Given the description of an element on the screen output the (x, y) to click on. 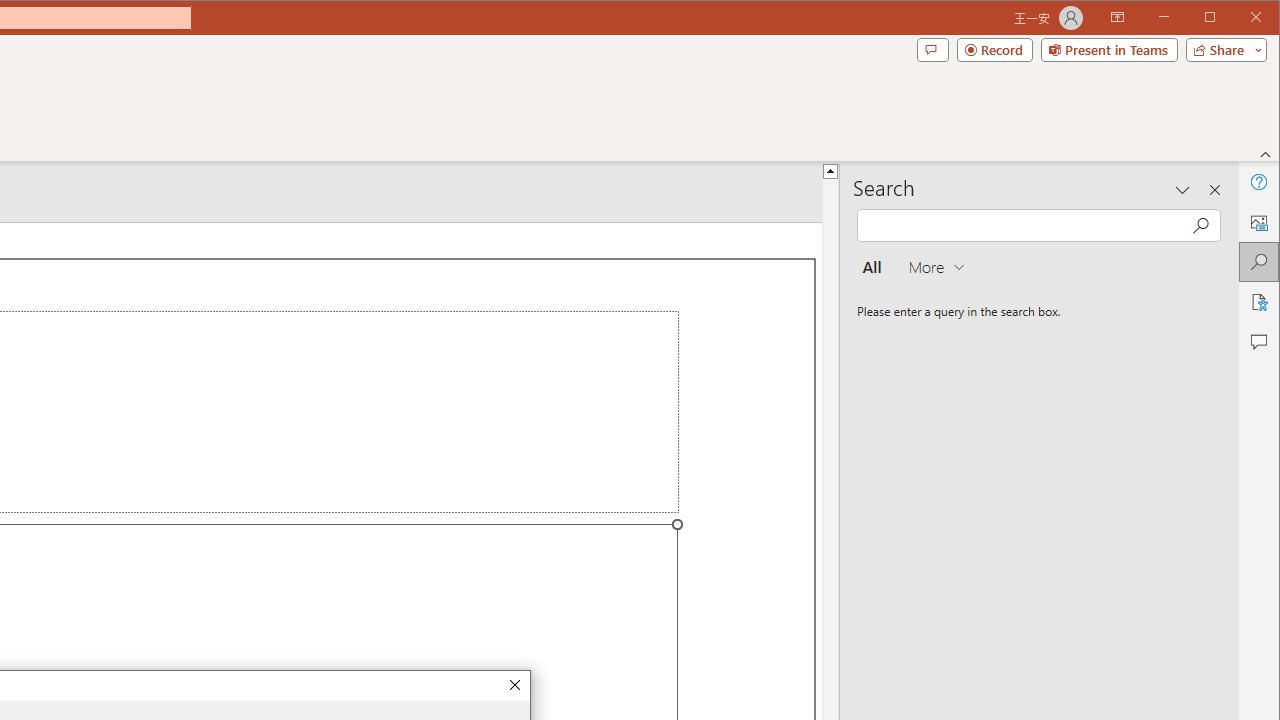
Maximize (1238, 18)
